Given the description of an element on the screen output the (x, y) to click on. 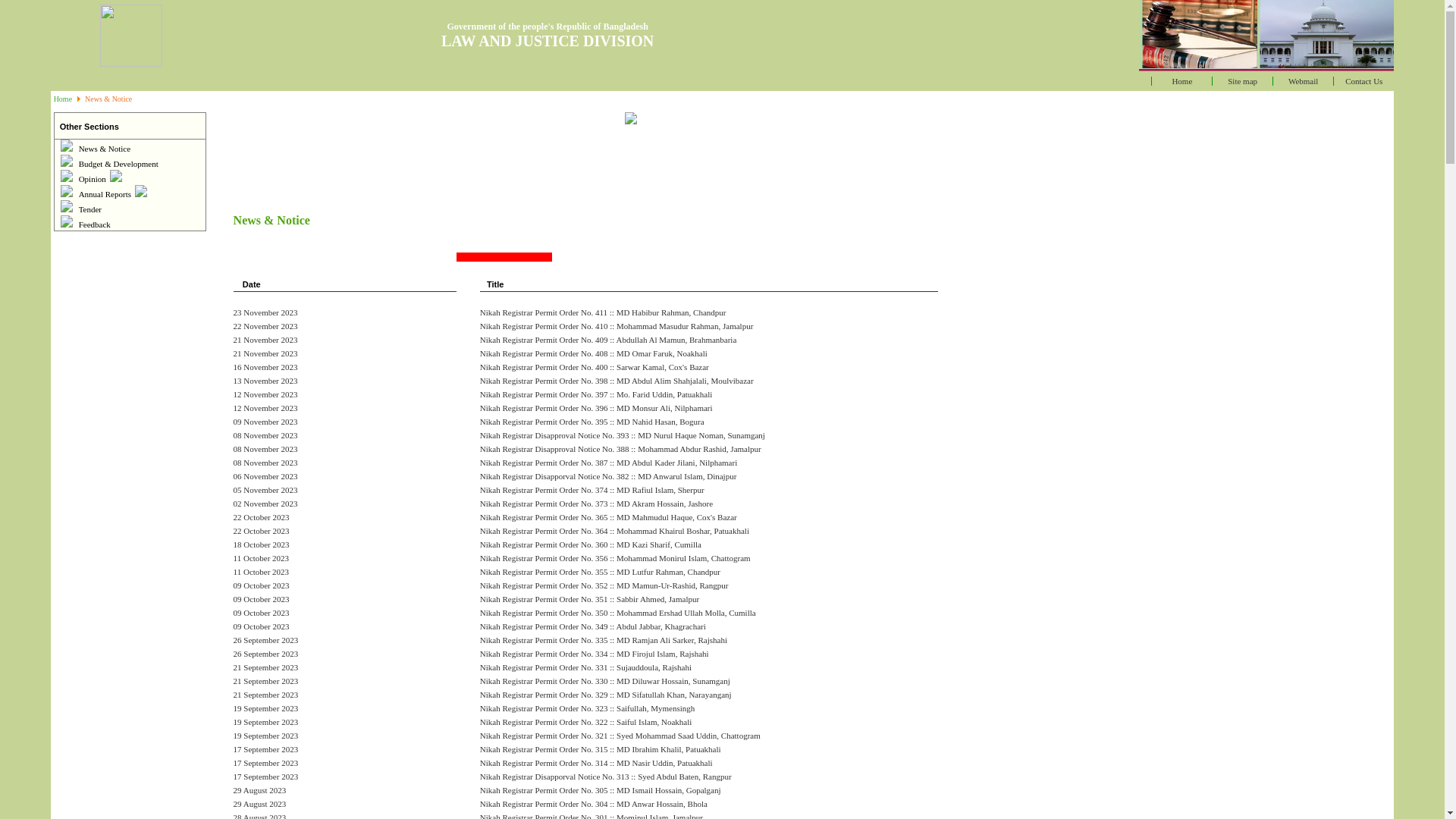
Opinion   Element type: text (100, 178)
News & Notice Element type: text (104, 148)
Webmail Element type: text (1302, 80)
Site map Element type: text (1242, 80)
Feedback Element type: text (94, 224)
Tender Element type: text (89, 208)
Home Element type: text (62, 98)
Annual Reports   Element type: text (112, 193)
Budget & Development Element type: text (118, 163)
Home Element type: text (1181, 80)
Contact Us Element type: text (1363, 80)
